Given the description of an element on the screen output the (x, y) to click on. 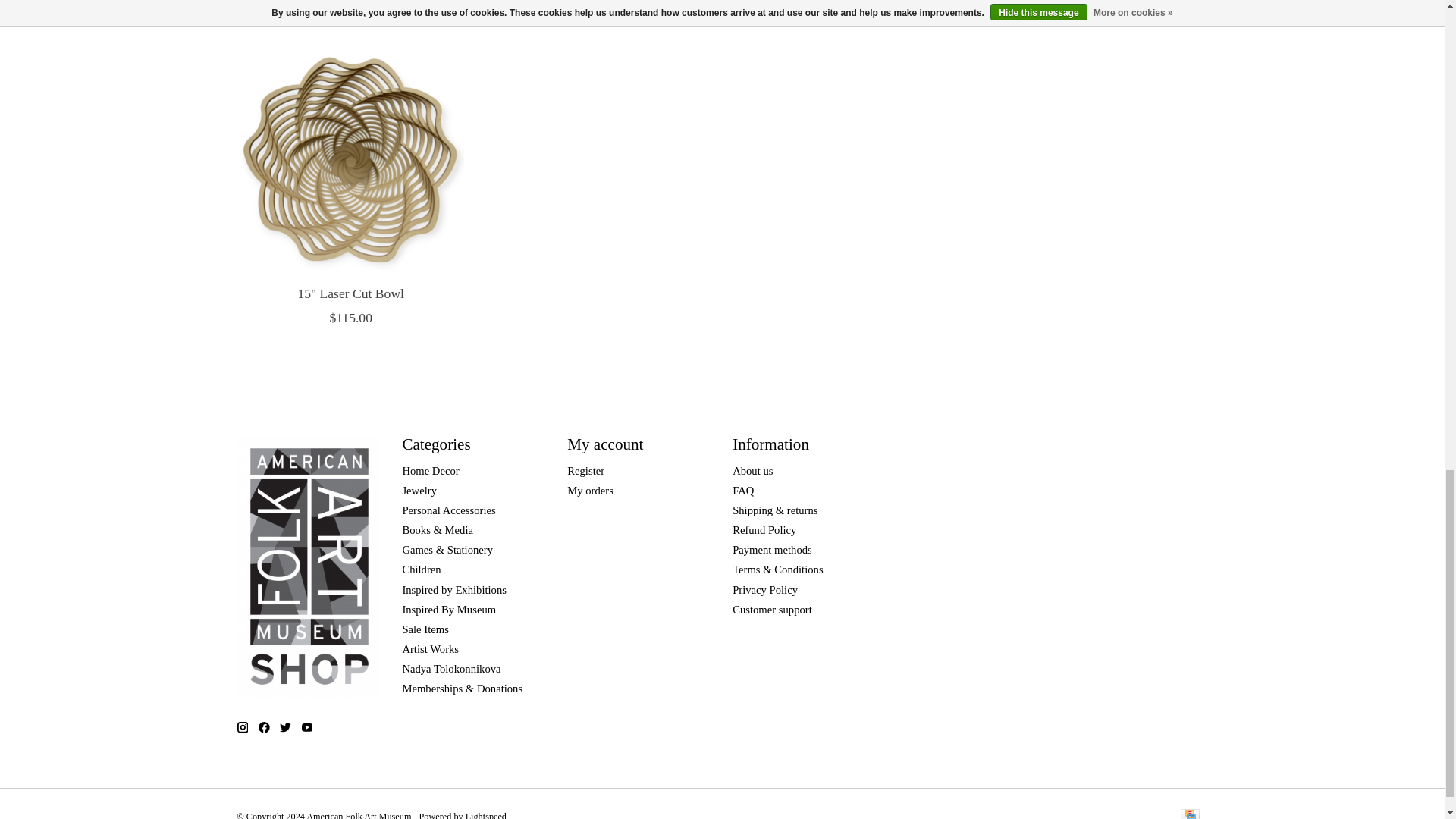
About us (752, 470)
Privacy Policy (764, 589)
FAQ (743, 490)
Refund Policy (764, 530)
Payment methods (772, 549)
Register (585, 470)
Customer support (772, 609)
Baltic By Design 15" Laser Cut Bowl (349, 158)
My orders (589, 490)
